Given the description of an element on the screen output the (x, y) to click on. 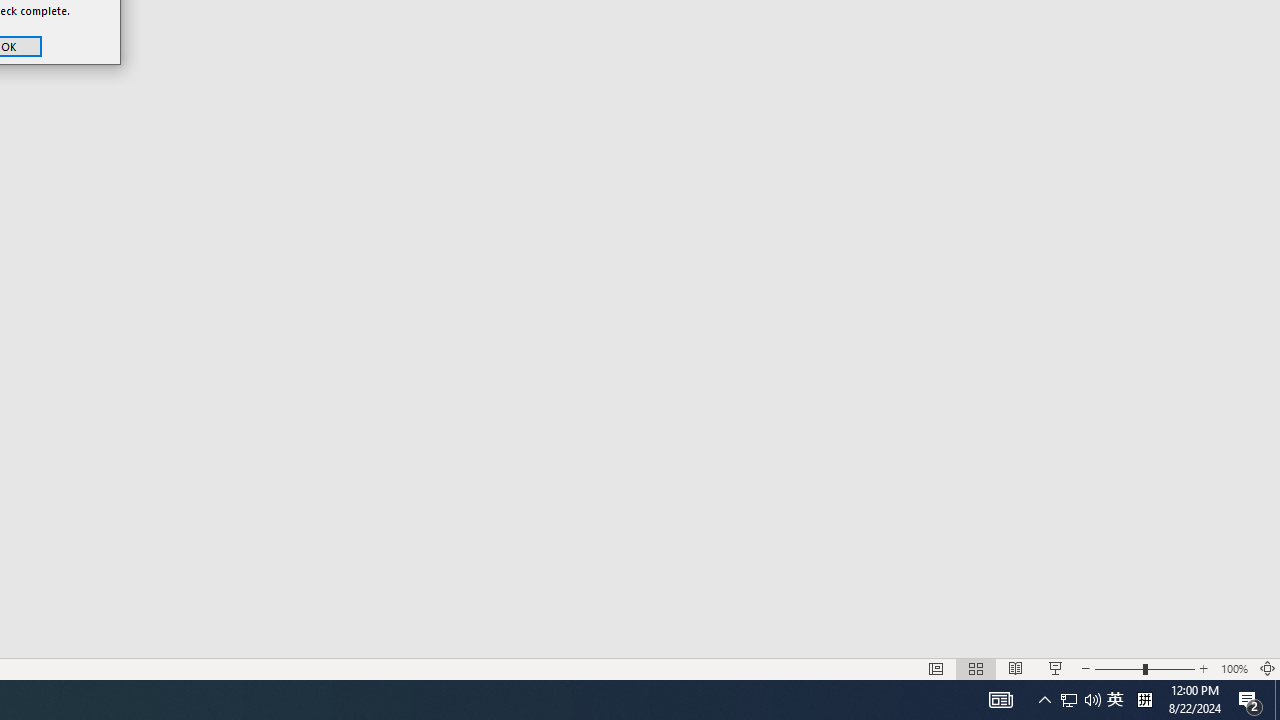
Zoom 100% (1234, 668)
